Given the description of an element on the screen output the (x, y) to click on. 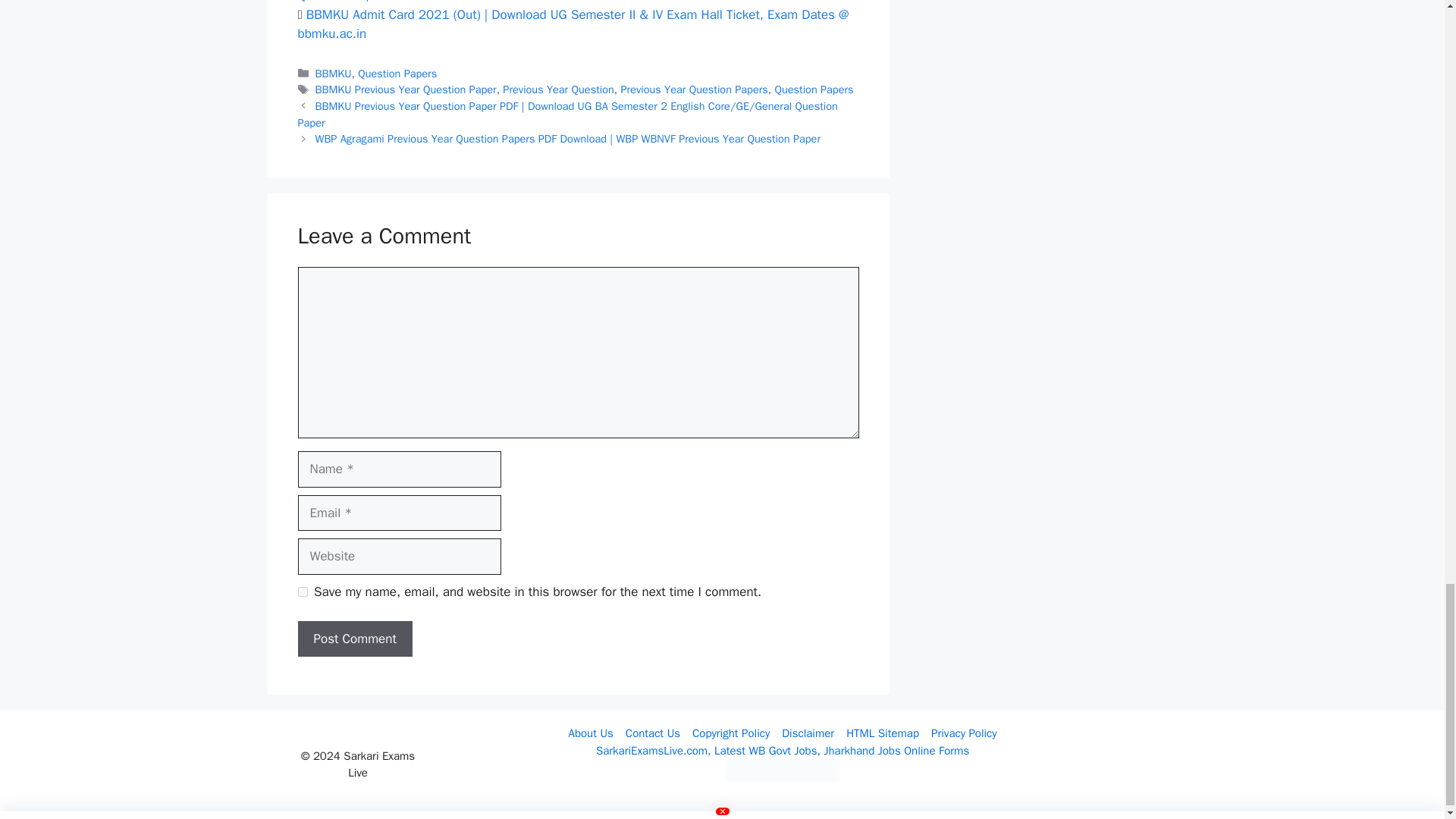
yes (302, 592)
BBMKU (333, 73)
Previous Year Question (557, 89)
Post Comment (354, 638)
Question Papers (813, 89)
DMCA.com Protection Status (782, 777)
Post Comment (354, 638)
Question Papers (397, 73)
BBMKU Previous Year Question Paper (405, 89)
Previous Year Question Papers (693, 89)
